Given the description of an element on the screen output the (x, y) to click on. 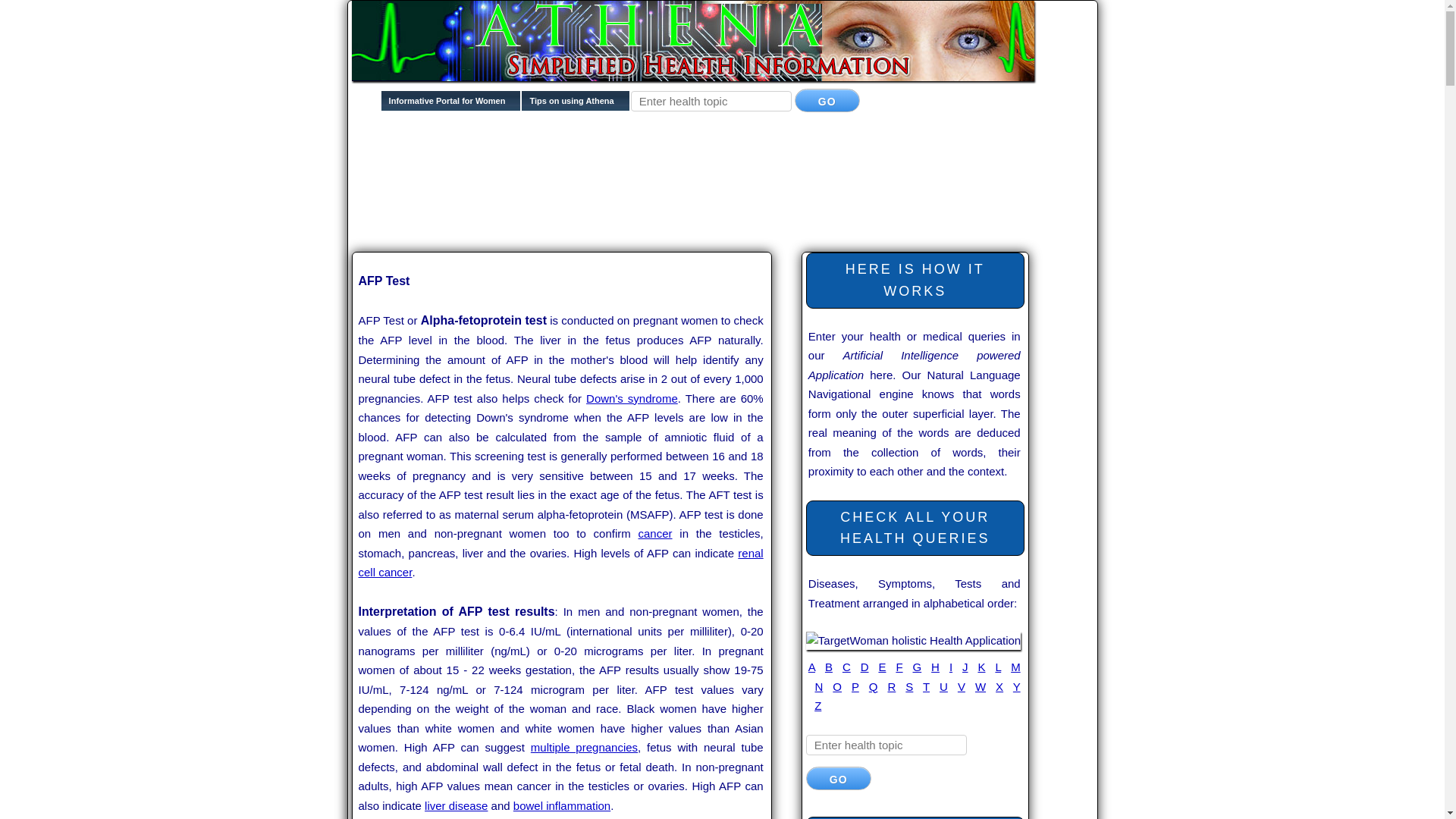
Go (838, 778)
Advertisement (628, 175)
Tips on using Athena (574, 104)
Advertisement (628, 222)
Go (827, 100)
renal cell cancer (560, 563)
liver disease (456, 805)
Down's syndrome (632, 398)
bowel inflammation (561, 805)
Informative Portal for Women (451, 104)
